Given the description of an element on the screen output the (x, y) to click on. 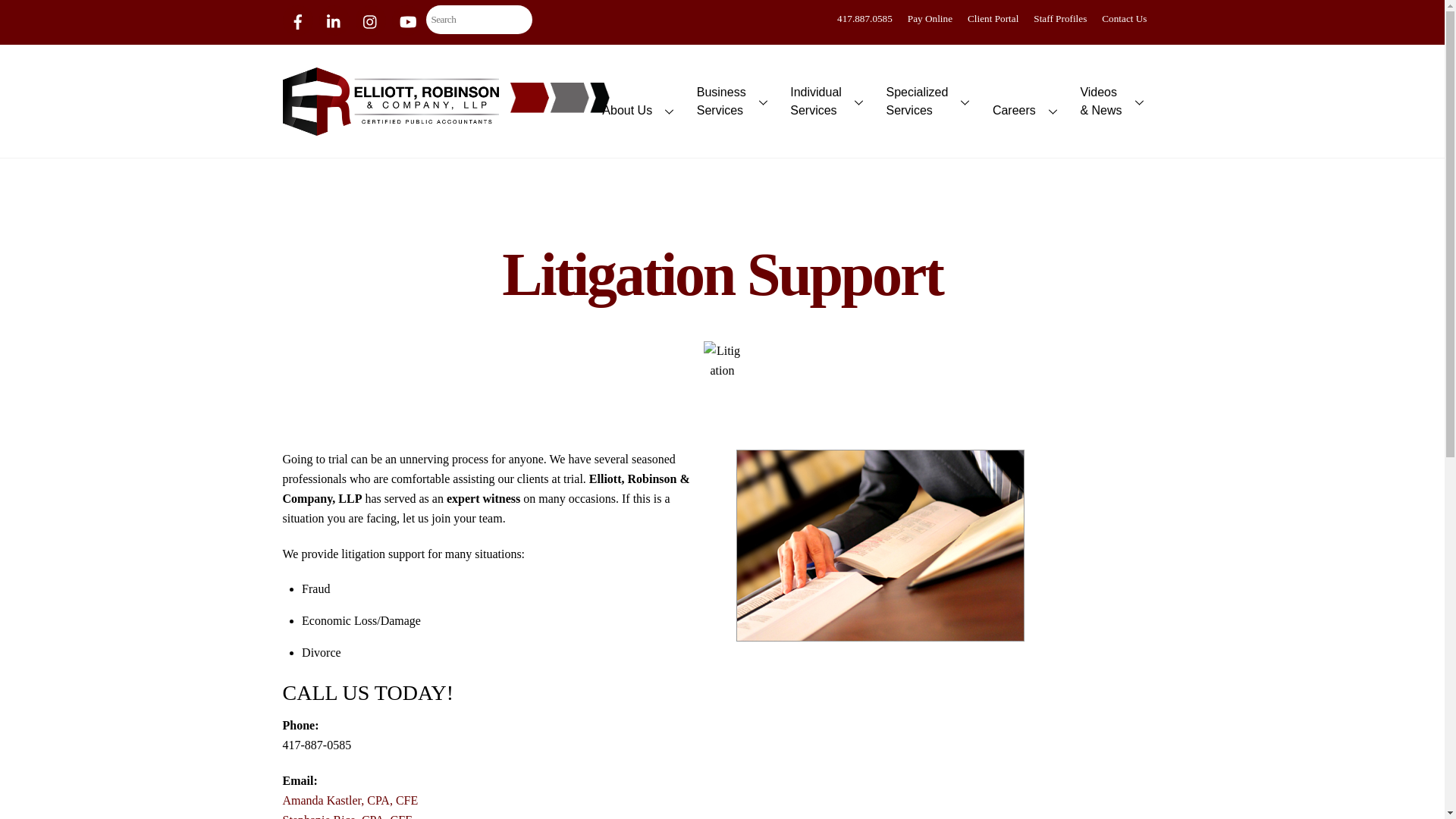
Client Portal (997, 18)
417.887.0585 (868, 18)
Search (479, 19)
Litigation Support (930, 101)
Contact Us (722, 360)
Pay Online (1128, 18)
